Given the description of an element on the screen output the (x, y) to click on. 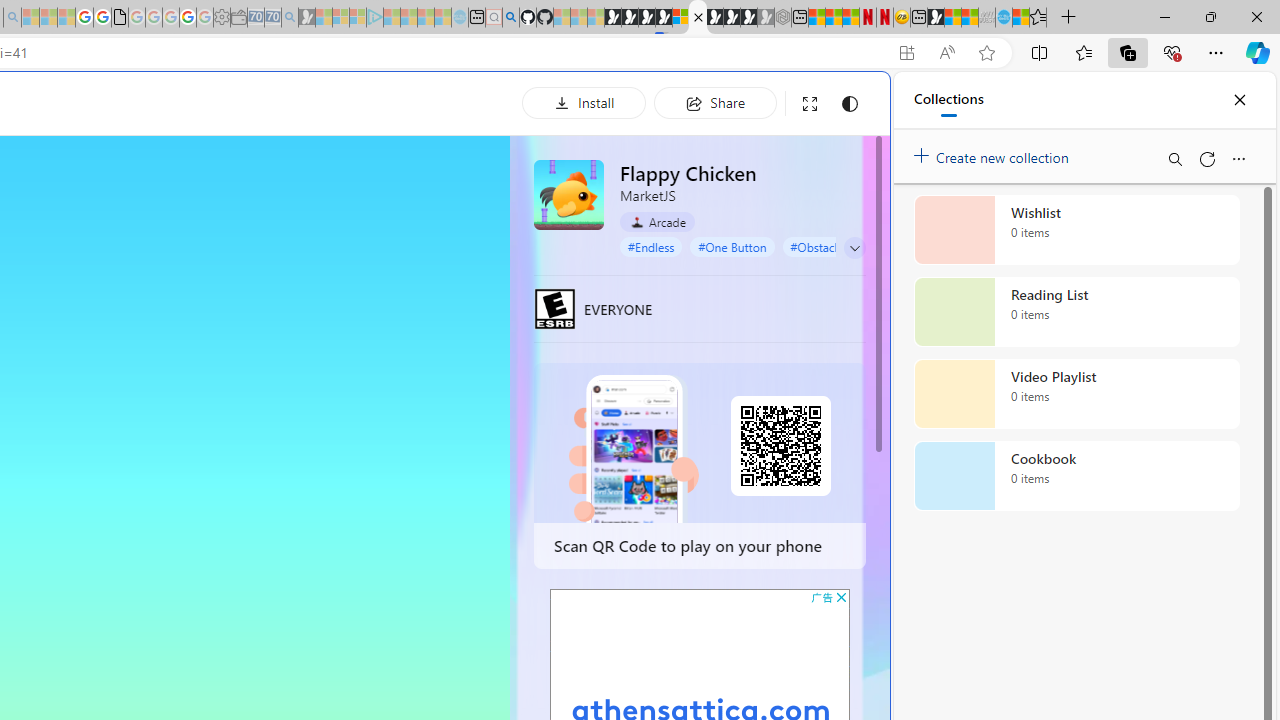
Frequently visited (418, 265)
Arcade (657, 221)
Search or enter web address (343, 191)
App available. Install Flappy Chicken (906, 53)
#One Button (731, 246)
